Given the description of an element on the screen output the (x, y) to click on. 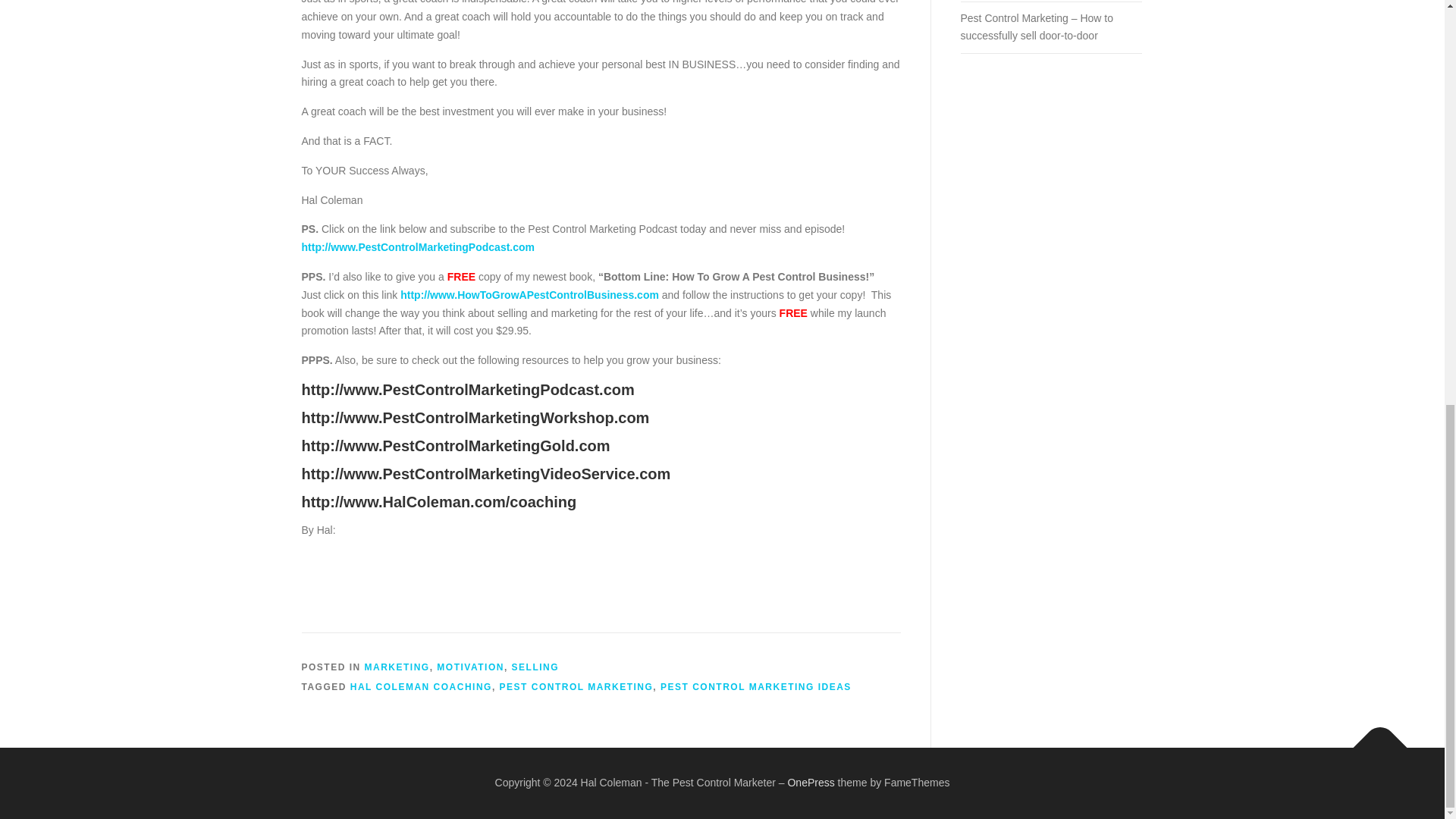
Back To Top (1372, 740)
MOTIVATION (469, 666)
HAL COLEMAN COACHING (421, 686)
SELLING (535, 666)
PEST CONTROL MARKETING (576, 686)
OnePress (810, 782)
MARKETING (397, 666)
PEST CONTROL MARKETING IDEAS (756, 686)
